Given the description of an element on the screen output the (x, y) to click on. 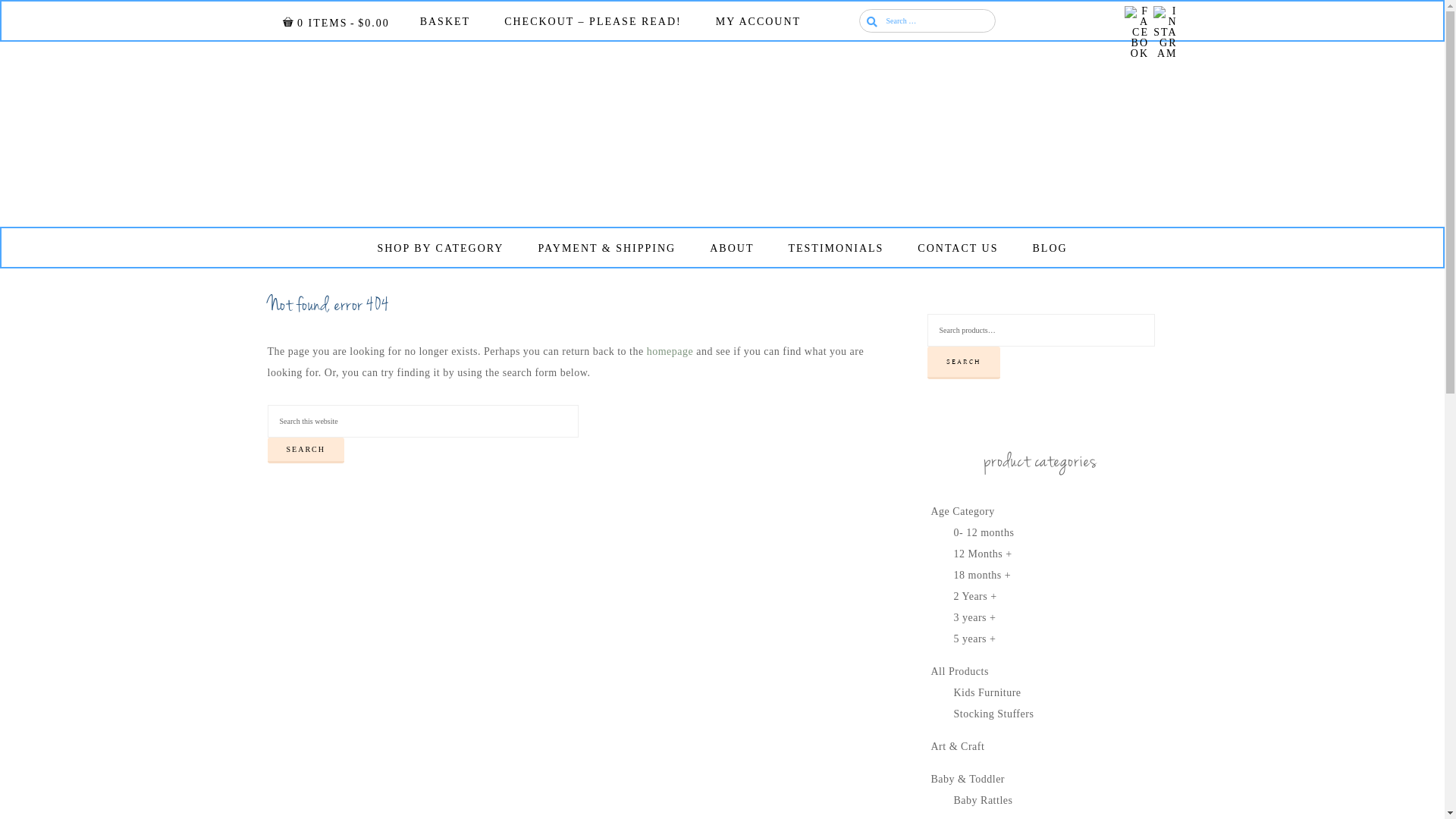
Baby Rattles Element type: text (983, 800)
All Products Element type: text (959, 671)
homepage Element type: text (669, 351)
Kids Furniture Element type: text (987, 692)
MY ACCOUNT Element type: text (757, 21)
Age Category Element type: text (962, 511)
BLOG Element type: text (1049, 248)
Art & Craft Element type: text (958, 746)
Search Element type: text (304, 450)
12 Months + Element type: text (982, 553)
Search Element type: text (0, 0)
SHOP BY CATEGORY Element type: text (439, 248)
TESTIMONIALS Element type: text (835, 248)
SEARCH Element type: text (962, 362)
3 years + Element type: text (974, 617)
2 Years + Element type: text (975, 596)
Baby & Toddler Element type: text (968, 778)
CONTACT US Element type: text (957, 248)
0 ITEMS$0.00 Element type: text (335, 22)
I LOVE WOODEN TOYS Element type: text (722, 134)
ABOUT Element type: text (731, 248)
18 months + Element type: text (982, 574)
5 years + Element type: text (974, 638)
PAYMENT & SHIPPING Element type: text (606, 248)
BASKET Element type: text (444, 21)
0- 12 months Element type: text (983, 532)
Stocking Stuffers Element type: text (993, 713)
